Given the description of an element on the screen output the (x, y) to click on. 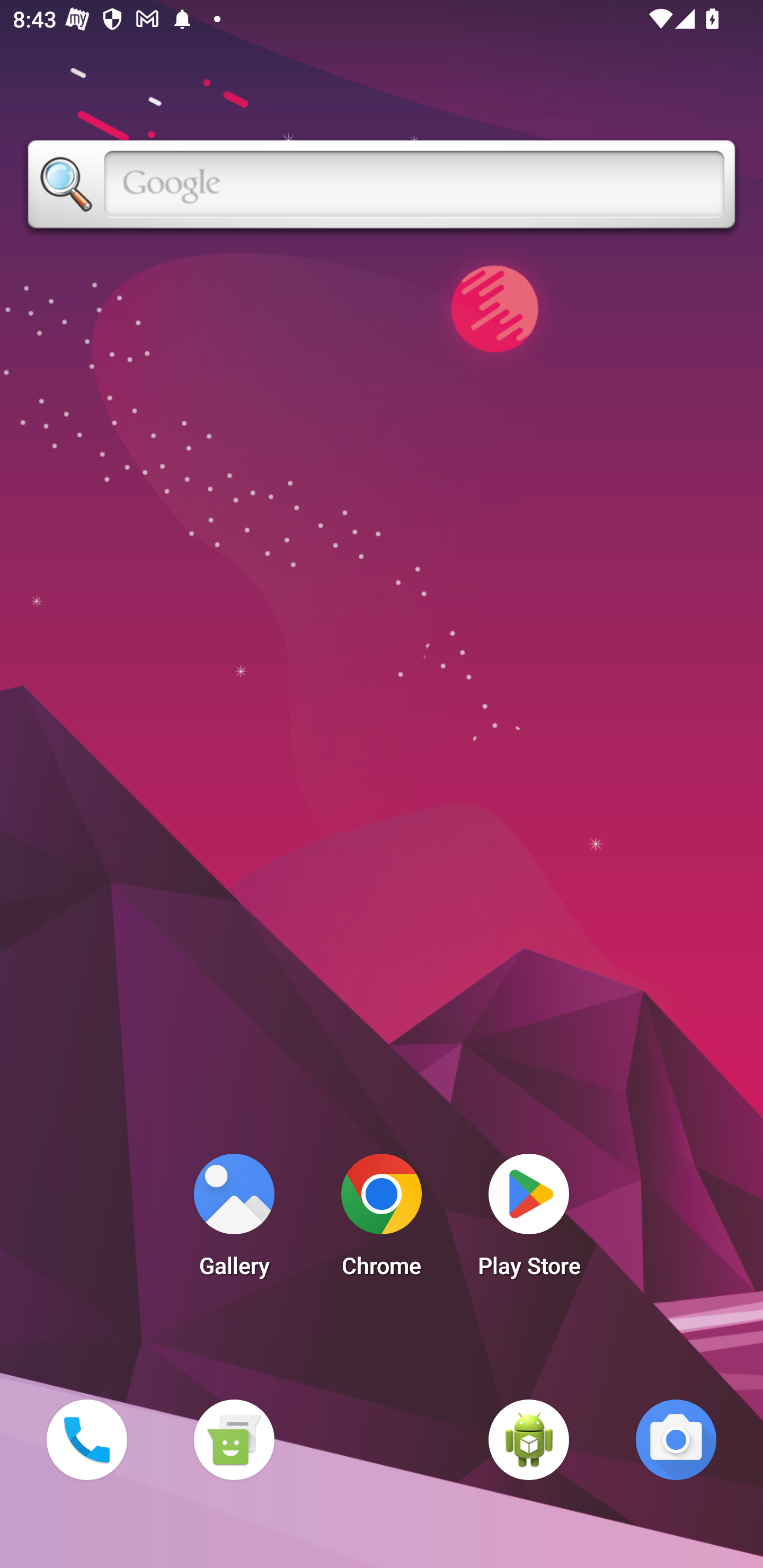
Gallery (233, 1220)
Chrome (381, 1220)
Play Store (528, 1220)
Phone (86, 1439)
Messaging (233, 1439)
WebView Browser Tester (528, 1439)
Camera (676, 1439)
